Given the description of an element on the screen output the (x, y) to click on. 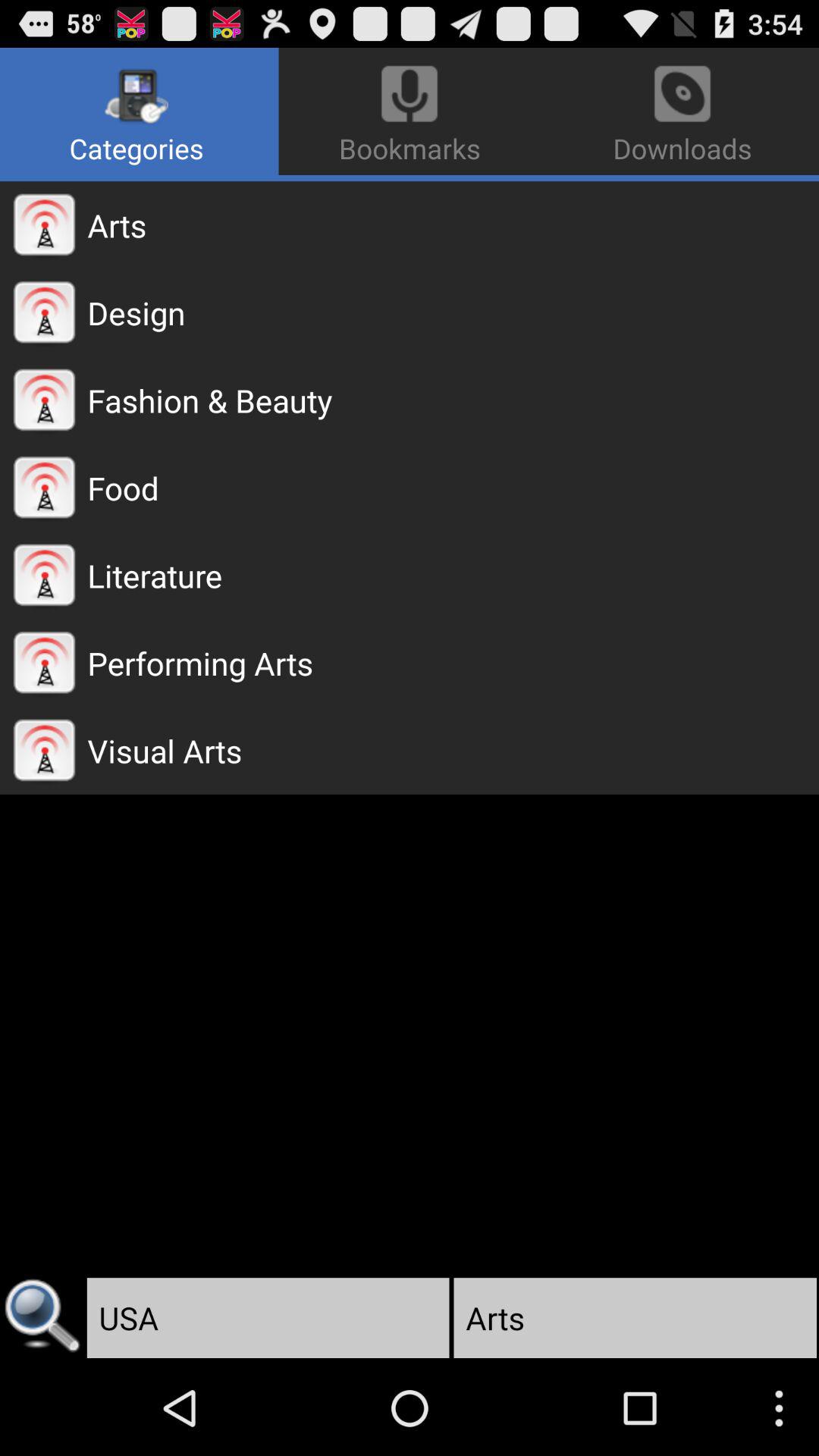
open the design item (453, 312)
